Given the description of an element on the screen output the (x, y) to click on. 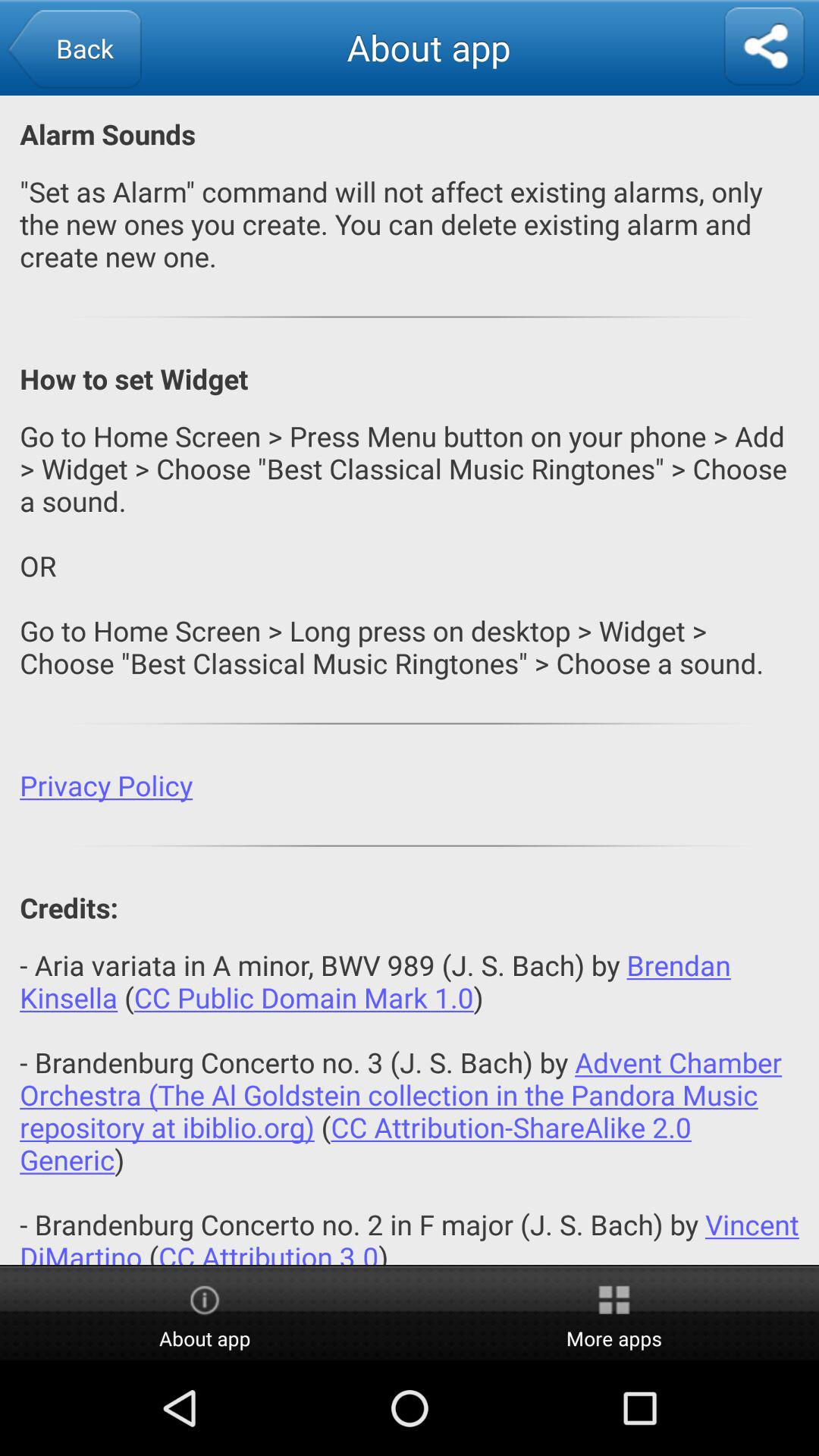
click the share button on the top right corner of the web page (764, 47)
click on more apps (614, 1313)
